Given the description of an element on the screen output the (x, y) to click on. 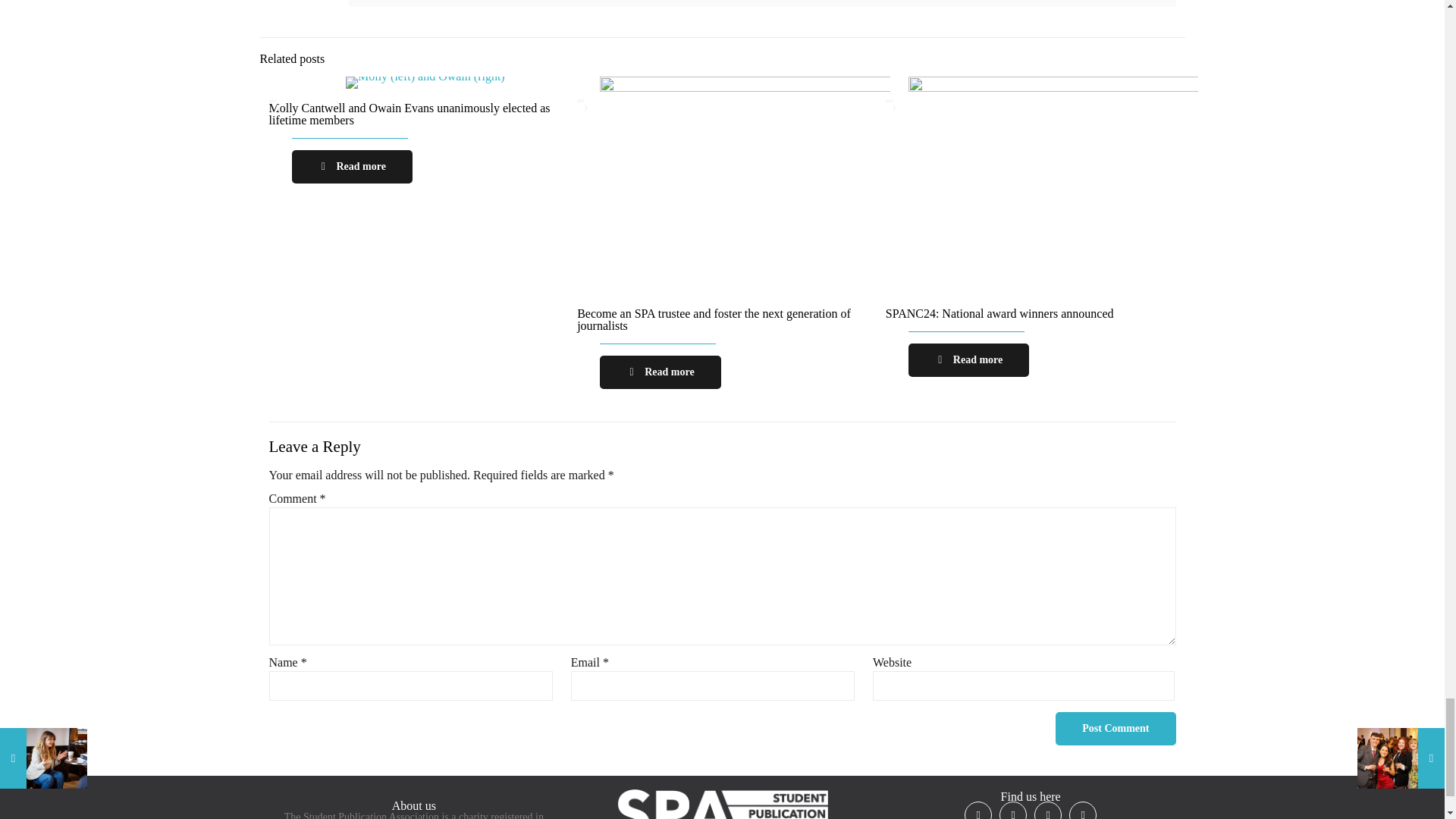
Post Comment (1114, 728)
